Given the description of an element on the screen output the (x, y) to click on. 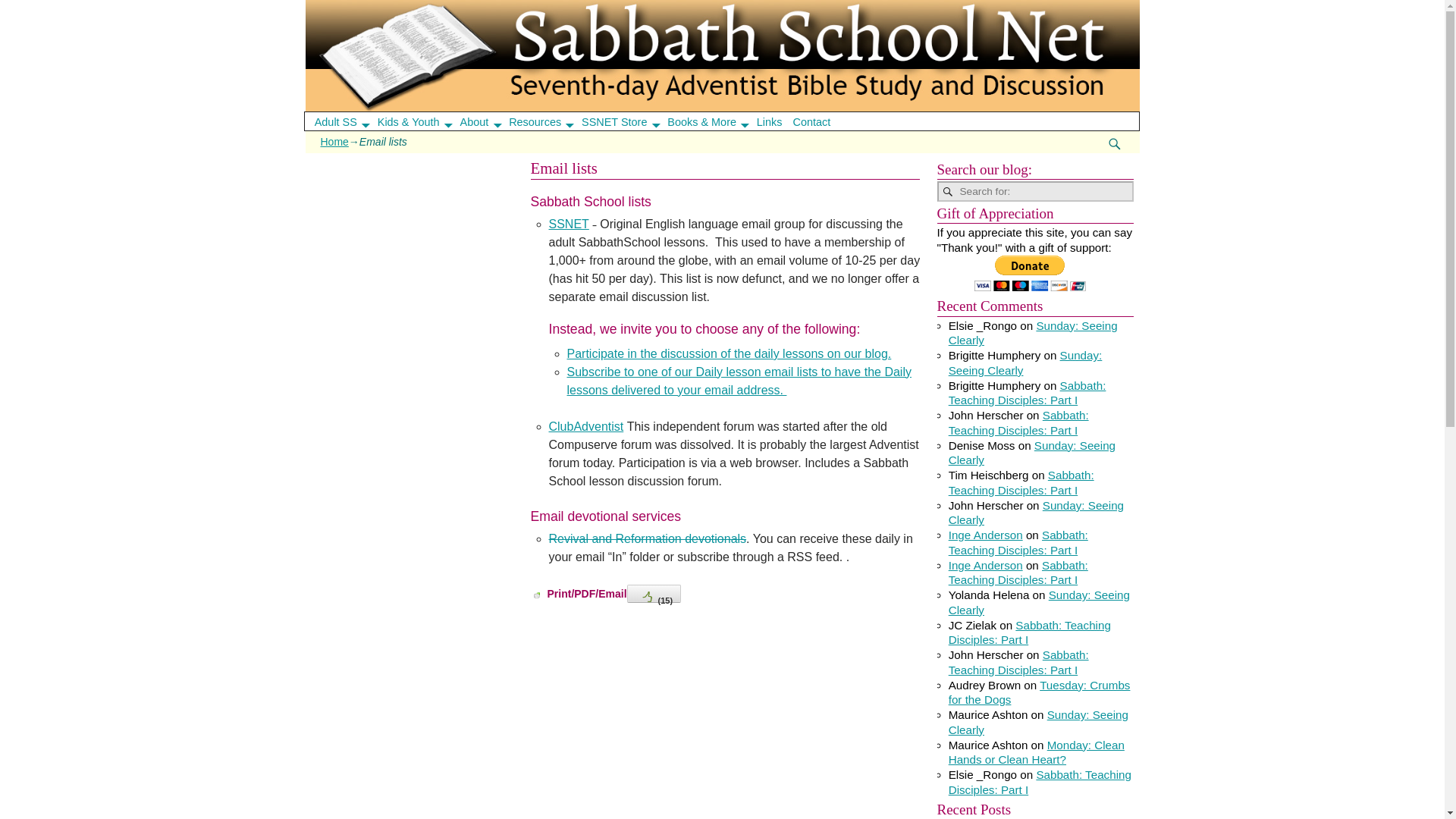
SSNET discussion list (568, 223)
About (485, 121)
Resources (545, 121)
Adult SS (346, 121)
